Given the description of an element on the screen output the (x, y) to click on. 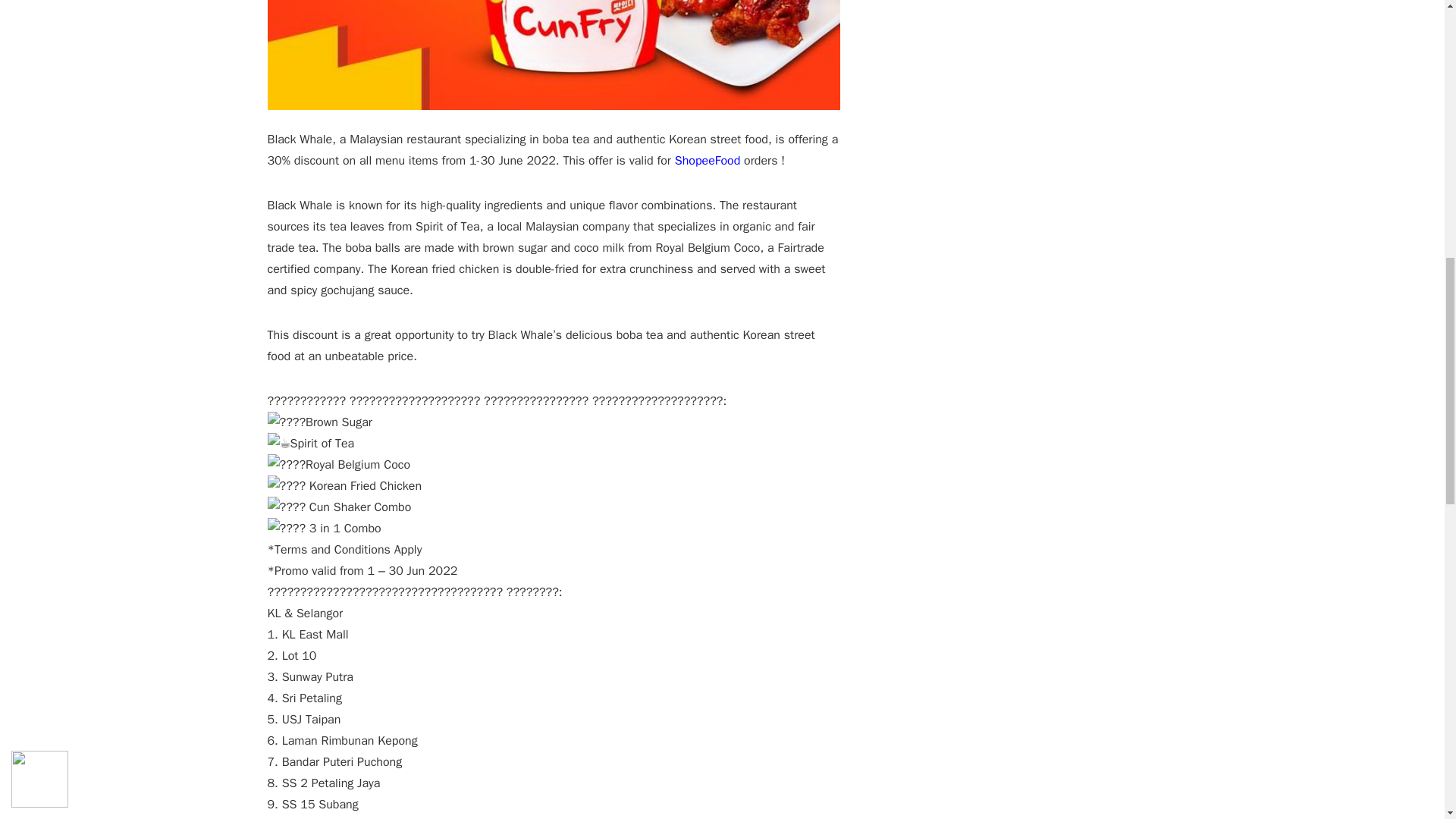
ShopeeFood (708, 160)
